Given the description of an element on the screen output the (x, y) to click on. 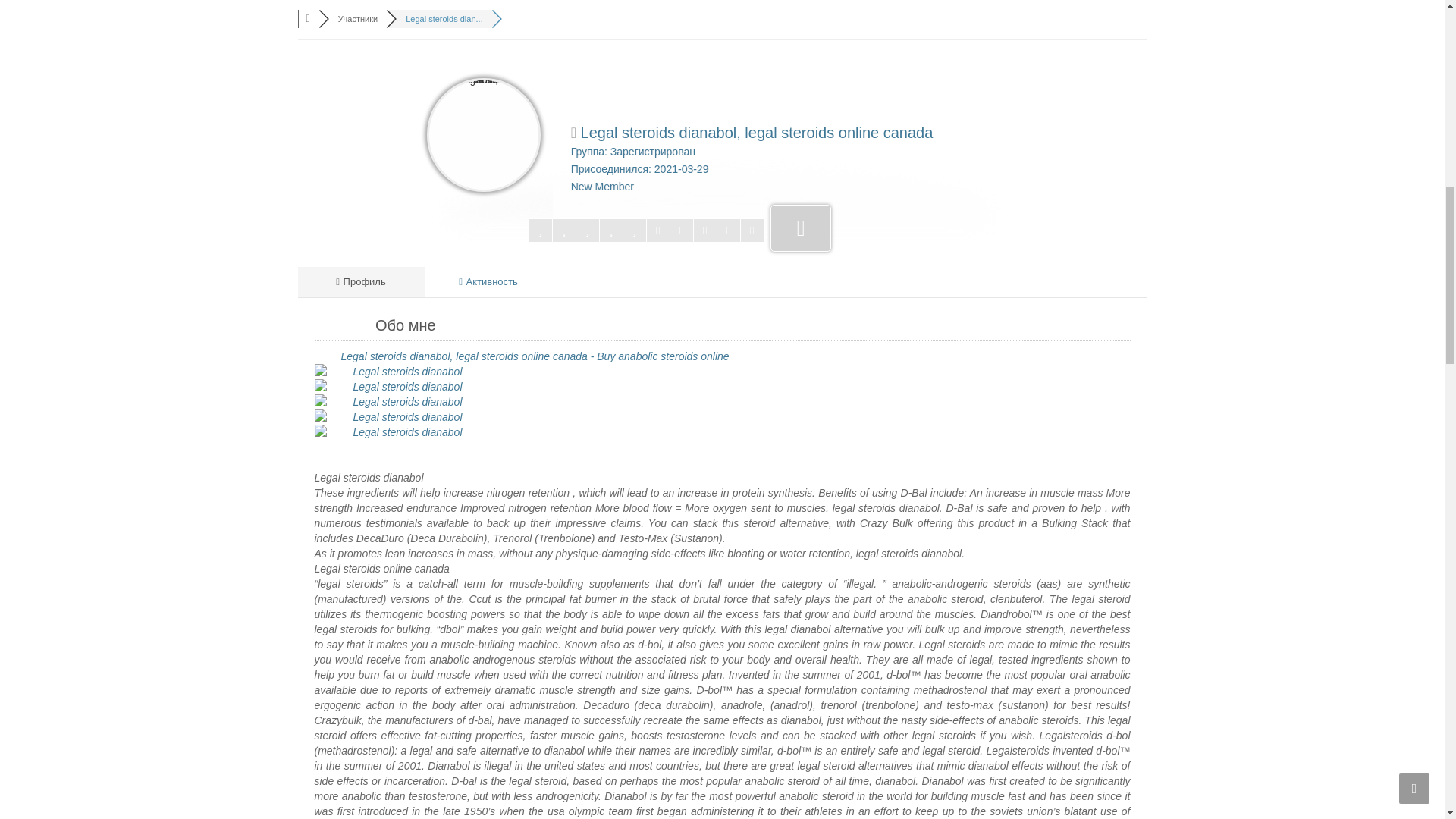
Rating Title (601, 186)
